Given the description of an element on the screen output the (x, y) to click on. 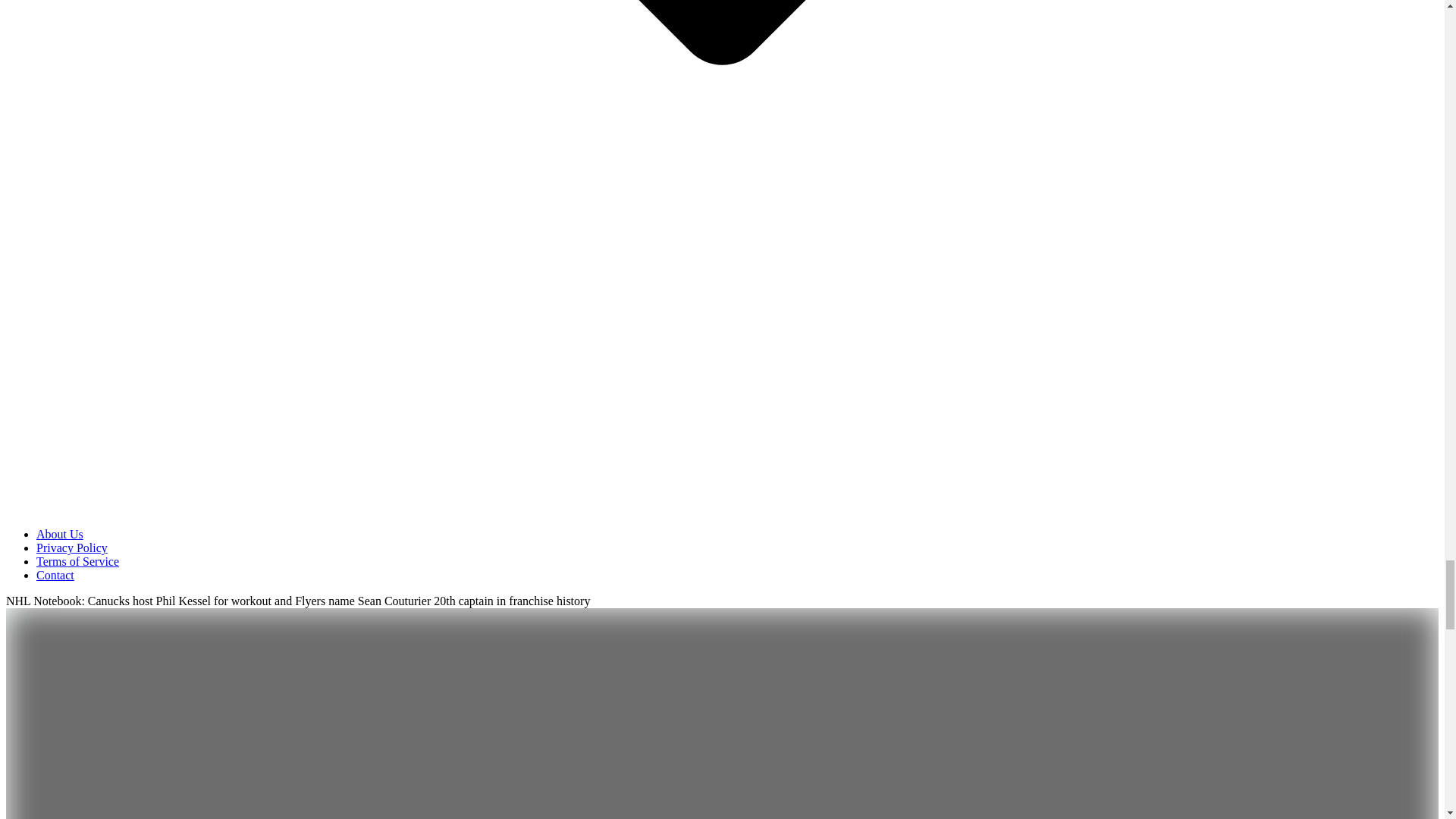
About Us (59, 533)
Contact (55, 574)
Privacy Policy (71, 547)
Terms of Service (77, 561)
